Given the description of an element on the screen output the (x, y) to click on. 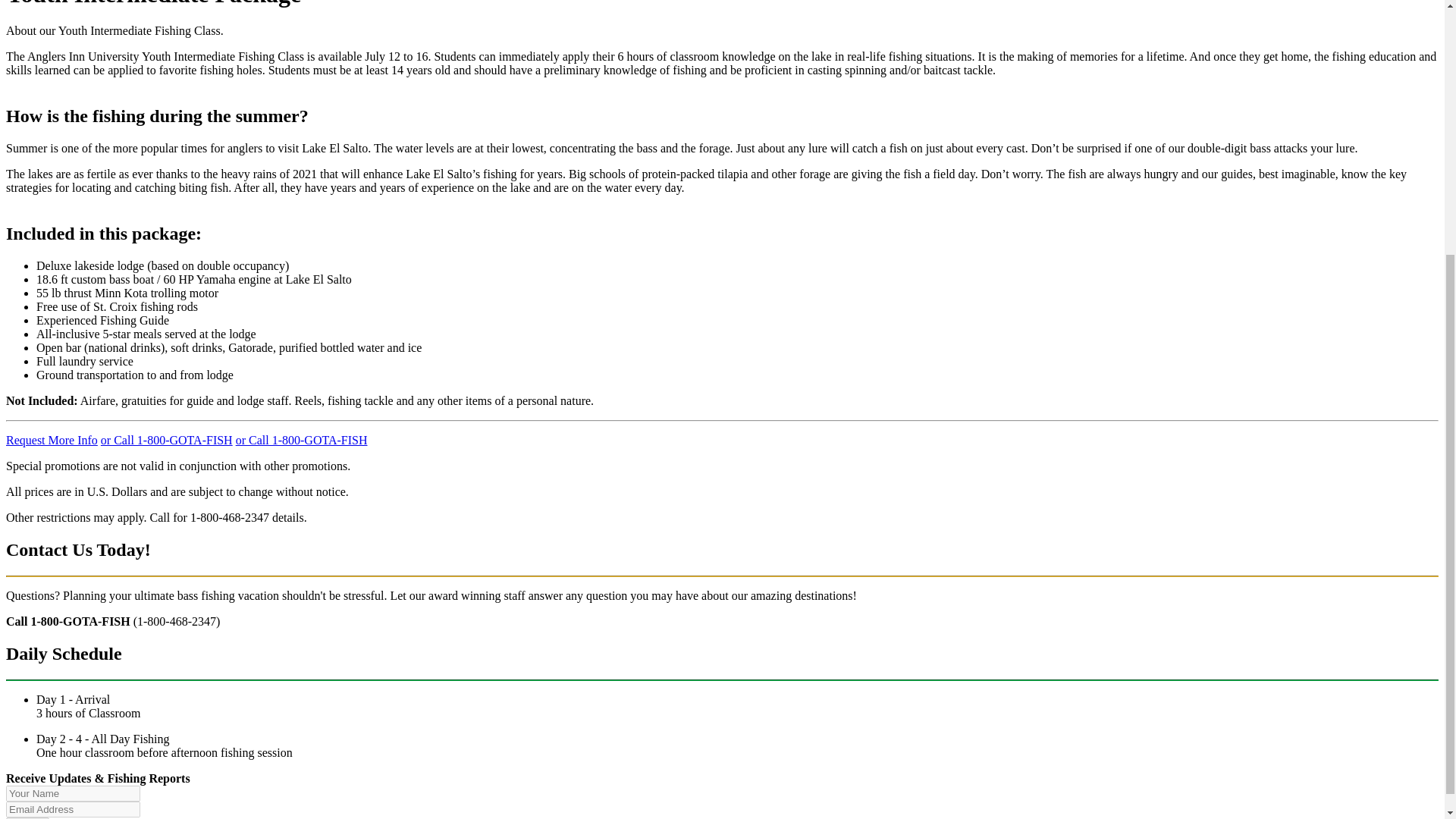
Request More Info (51, 440)
or Call 1-800-GOTA-FISH (166, 440)
or Call 1-800-GOTA-FISH (301, 440)
